Given the description of an element on the screen output the (x, y) to click on. 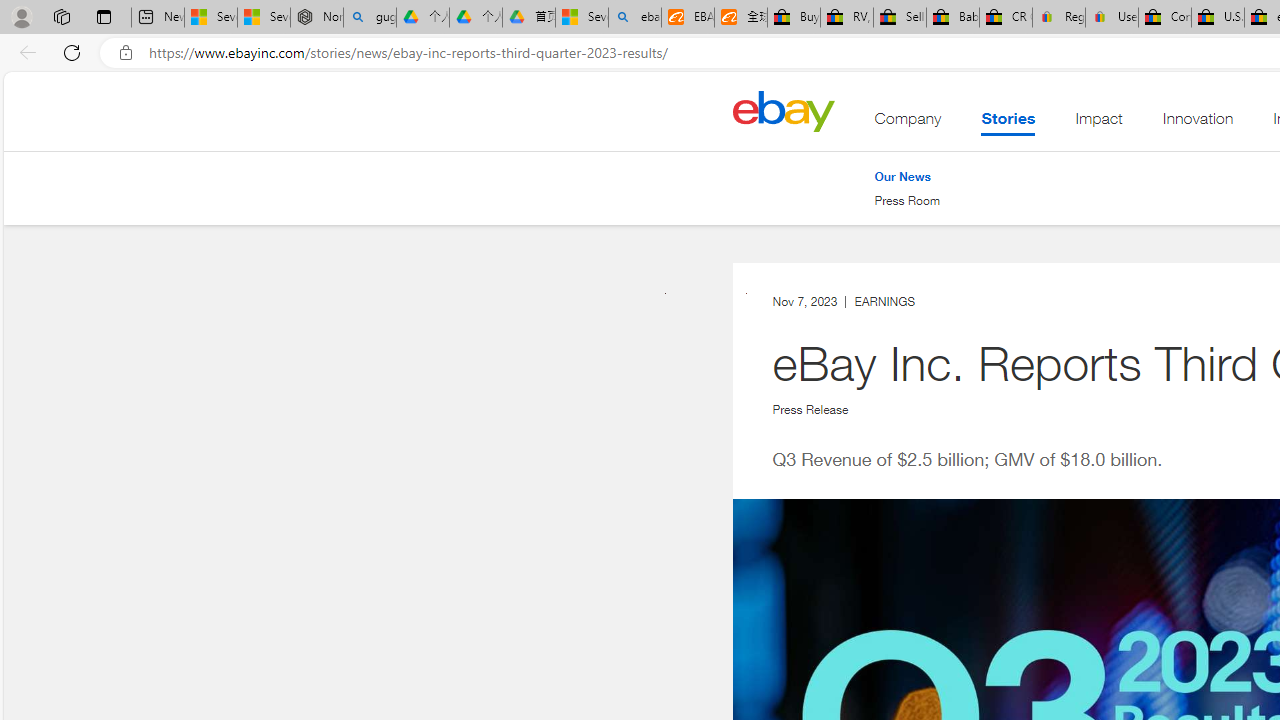
ebay - Search (634, 17)
Stories (1007, 123)
Our News (907, 176)
U.S. State Privacy Disclosures - eBay Inc. (1217, 17)
Consumer Health Data Privacy Policy - eBay Inc. (1165, 17)
Innovation (1197, 123)
Workspaces (61, 16)
Baby Keepsakes & Announcements for sale | eBay (952, 17)
View site information (125, 53)
Innovation (1197, 123)
Back (24, 52)
Home (783, 110)
